Given the description of an element on the screen output the (x, y) to click on. 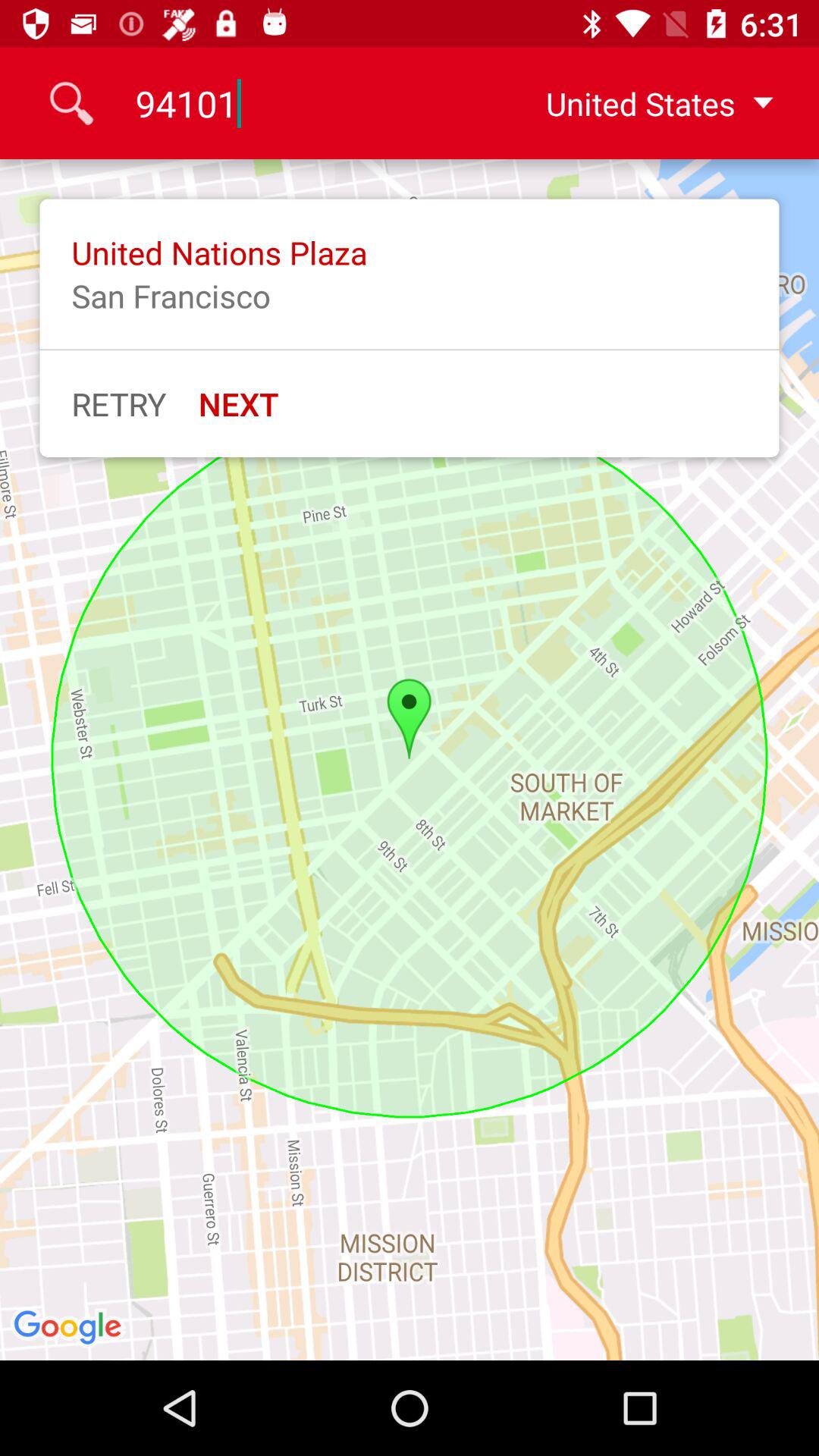
click icon at the top right corner (647, 103)
